Given the description of an element on the screen output the (x, y) to click on. 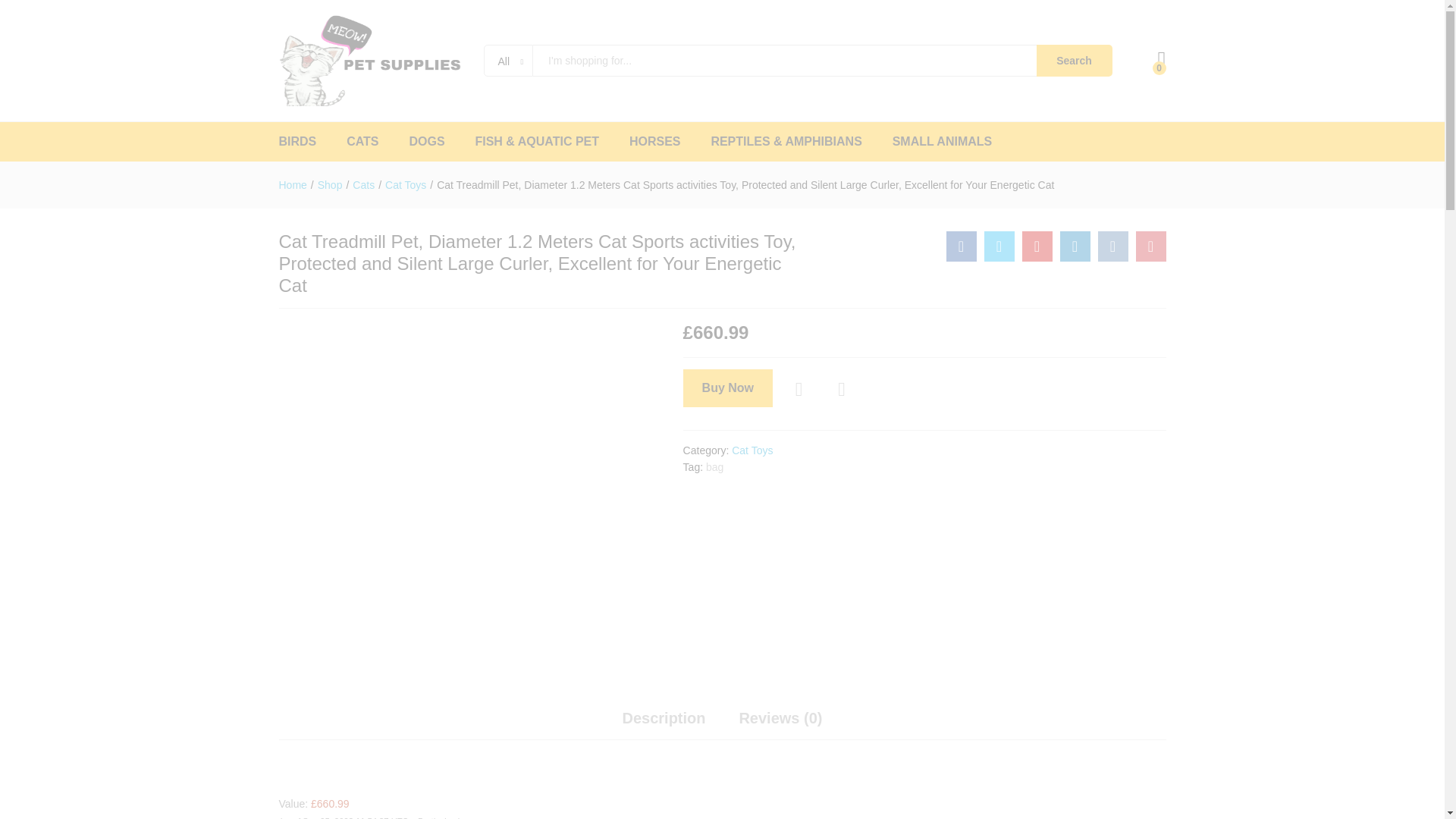
BIRDS (298, 141)
Compare (841, 389)
Search (1074, 60)
DOGS (426, 141)
CATS (362, 141)
Add to wishlist (800, 389)
HORSES (654, 141)
